Given the description of an element on the screen output the (x, y) to click on. 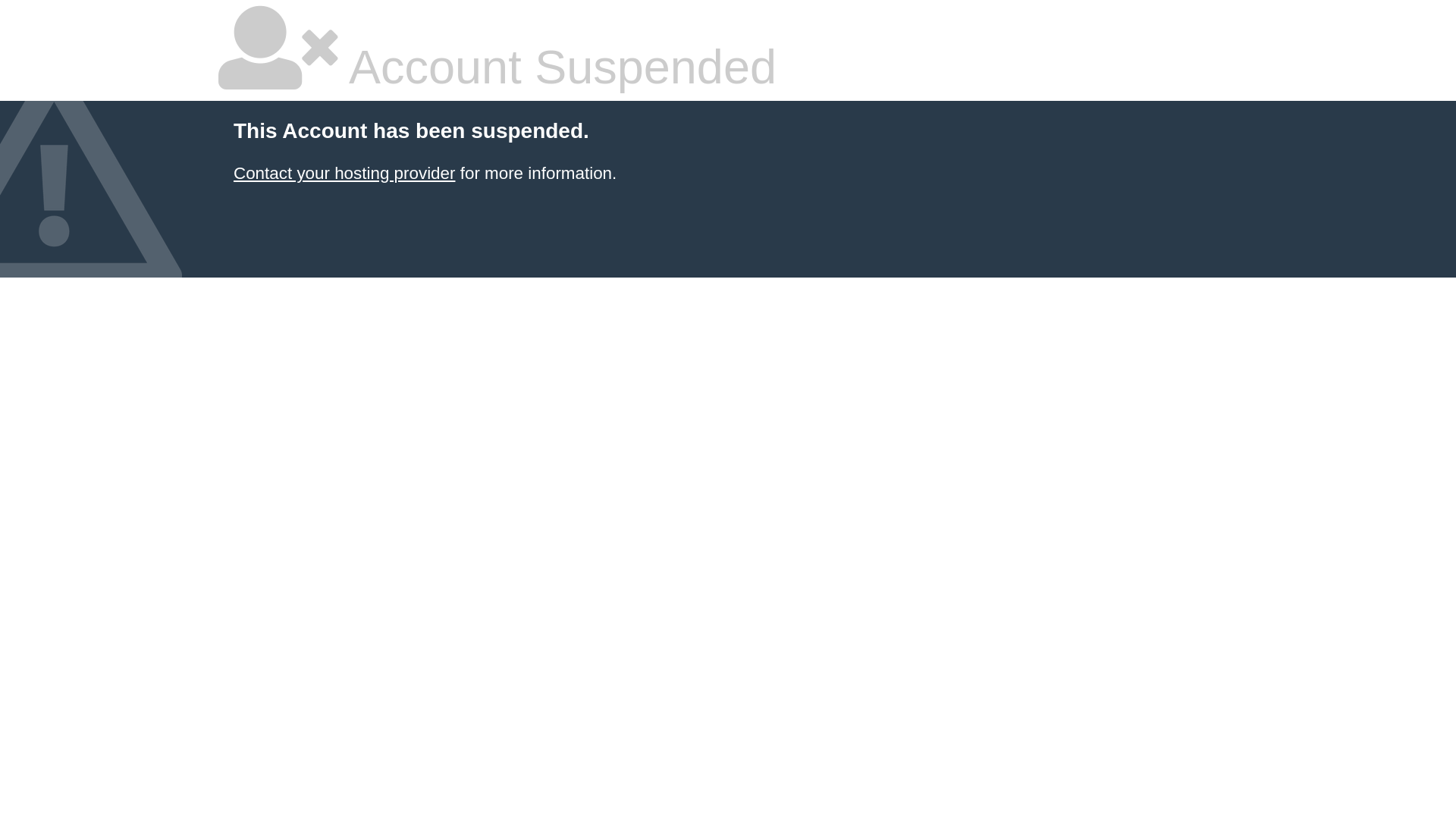
Contact your hosting provider Element type: text (344, 172)
